Given the description of an element on the screen output the (x, y) to click on. 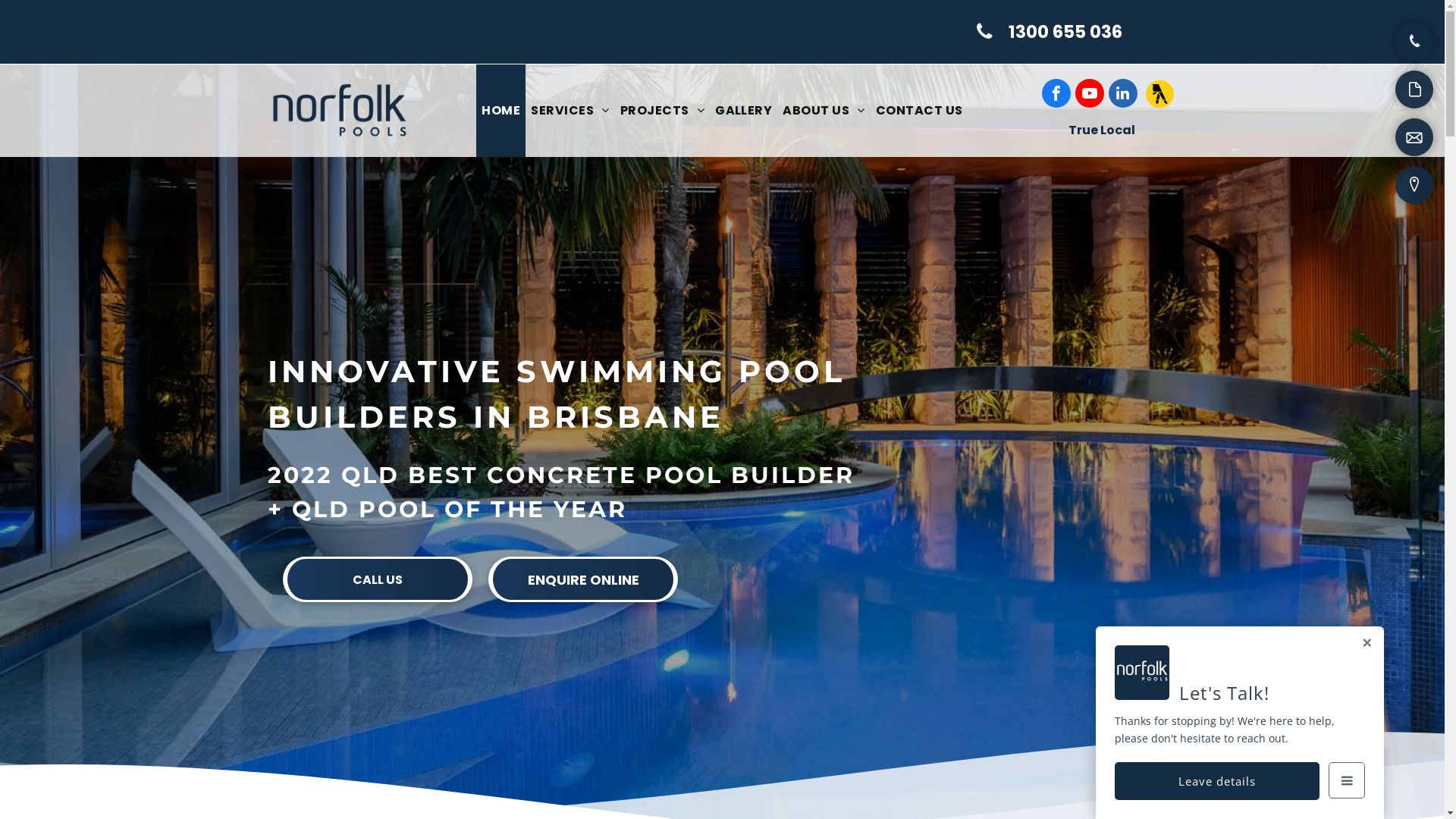
SERVICES Element type: text (569, 110)
PROJECTS Element type: text (662, 110)
Norfolk Pools Element type: hover (338, 110)
GALLERY Element type: text (743, 110)
ABOUT US Element type: text (823, 110)
CONTACT US Element type: text (919, 110)
True Local Element type: text (1100, 129)
Leave details Element type: text (1216, 781)
ENQUIRE ONLINE Element type: text (582, 579)
CALL US Element type: text (377, 579)
1300 655 036 Element type: text (1049, 31)
HOME Element type: text (500, 110)
